Given the description of an element on the screen output the (x, y) to click on. 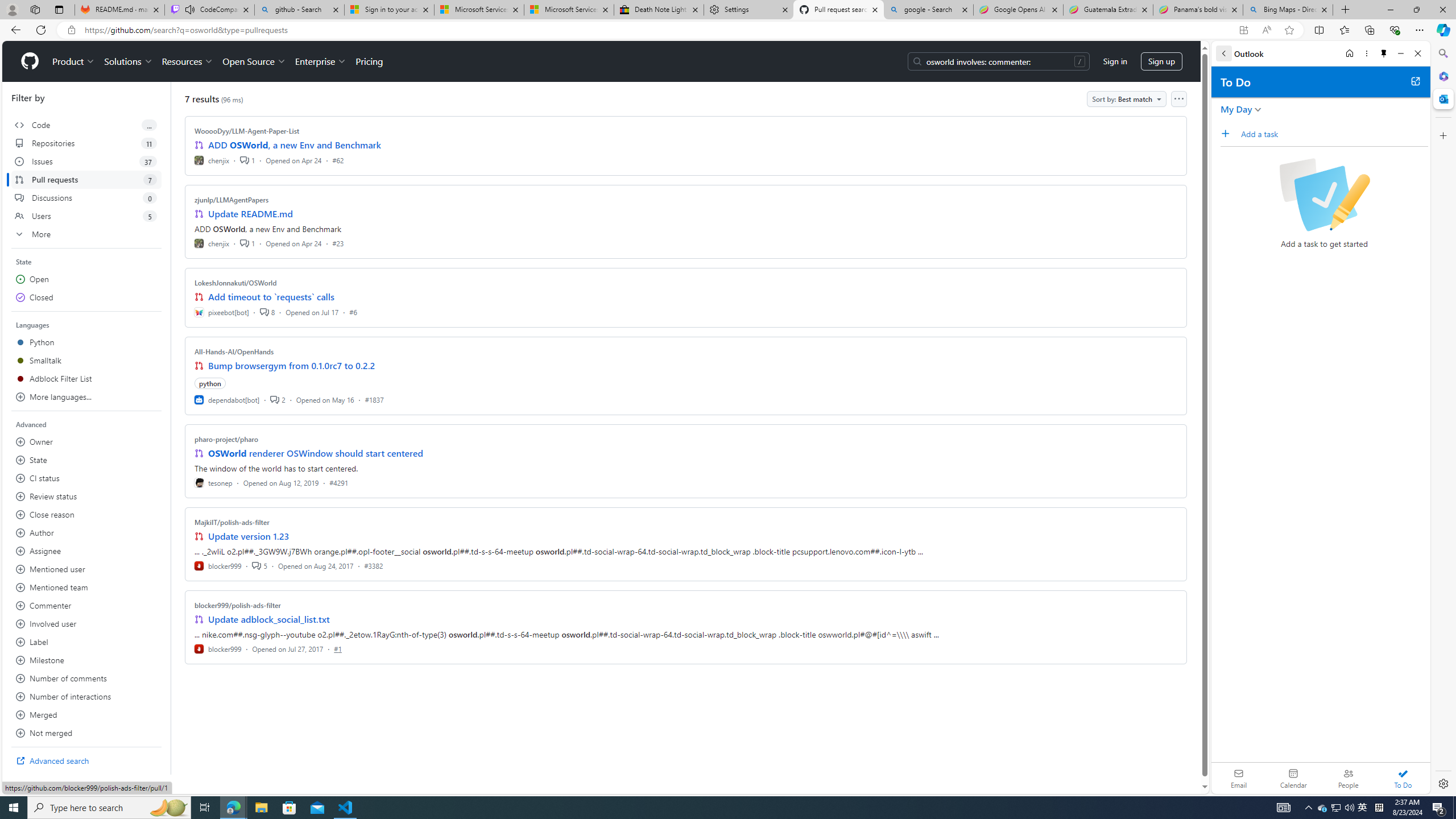
Checkbox with a pencil (1324, 194)
OSWorld renderer OSWindow should start centered (315, 453)
Update README.md (250, 213)
#1837 (374, 398)
Add a task (1228, 133)
